Given the description of an element on the screen output the (x, y) to click on. 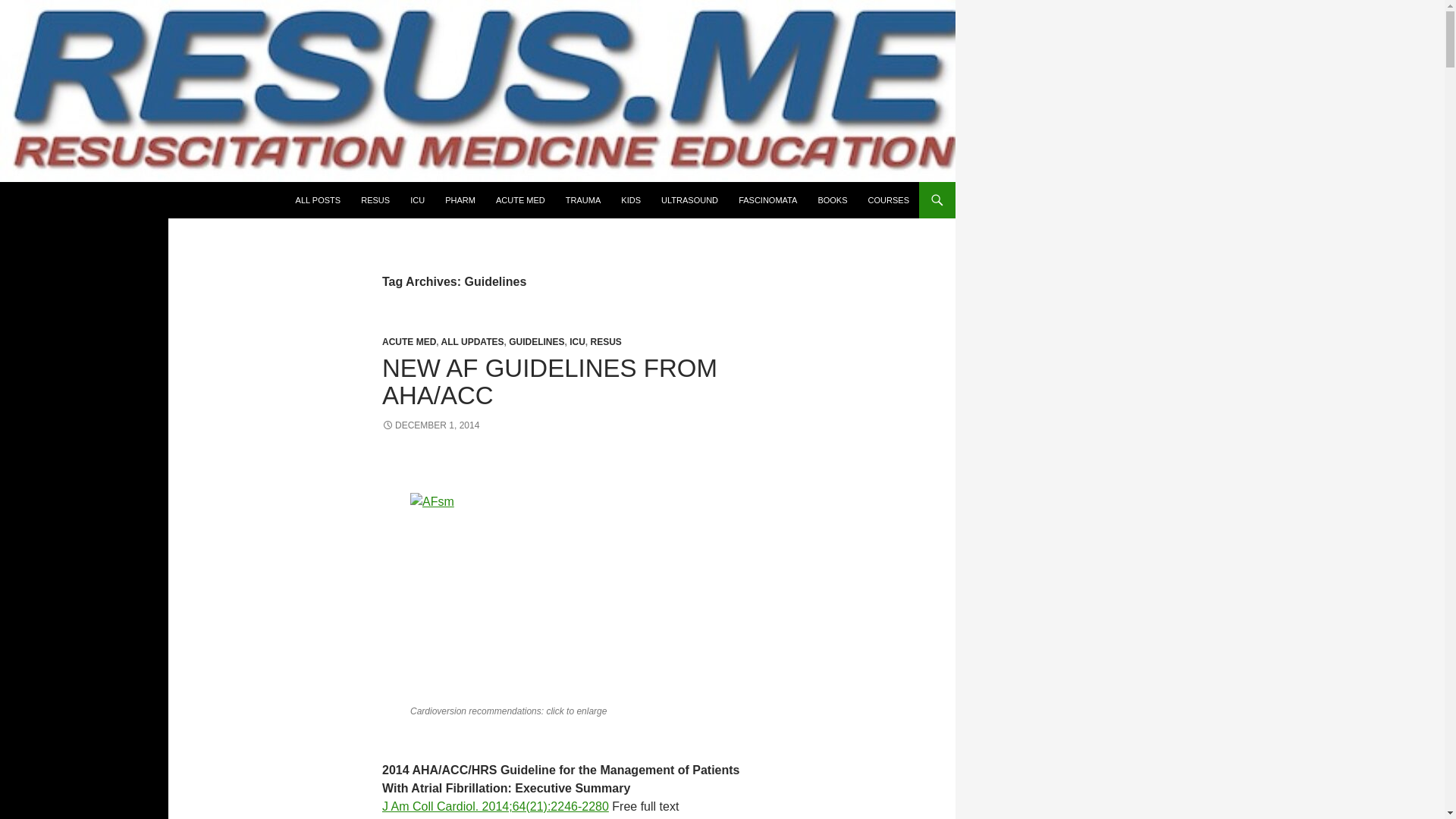
RESUS (375, 199)
ALL POSTS (318, 199)
ACUTE MED (408, 341)
BOOKS (832, 199)
PHARM (459, 199)
ULTRASOUND (689, 199)
COURSES (888, 199)
KIDS (630, 199)
FASCINOMATA (767, 199)
RESUS (606, 341)
DECEMBER 1, 2014 (430, 425)
ICU (417, 199)
GUIDELINES (536, 341)
